Given the description of an element on the screen output the (x, y) to click on. 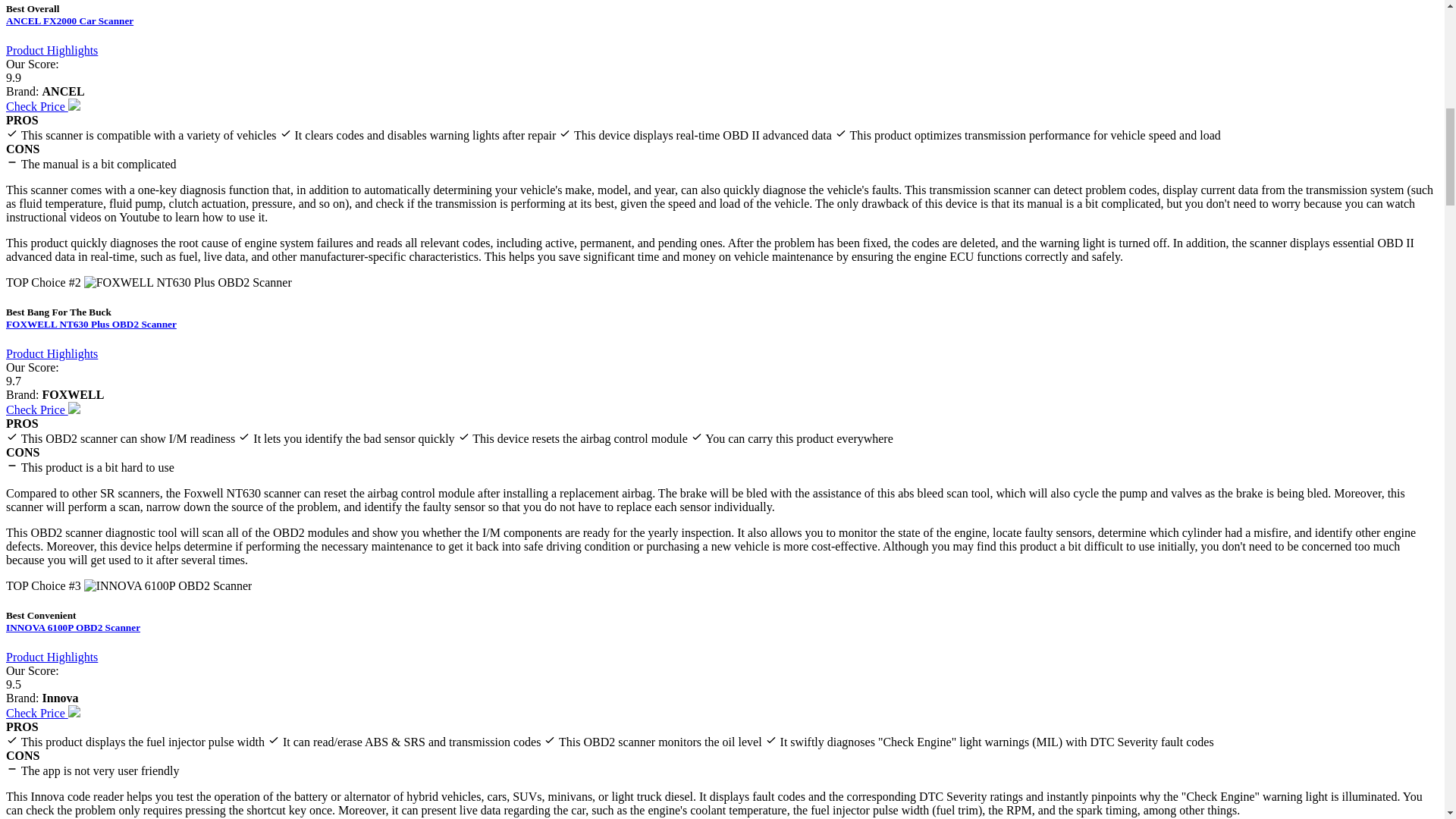
Product Highlights (51, 353)
FOXWELL NT630 Plus OBD2 Scanner (90, 324)
Check Price (42, 409)
Check Price (42, 106)
Check Price (42, 712)
Product Highlights (51, 656)
Product Highlights (51, 50)
ANCEL FX2000 Car Scanner (69, 20)
INNOVA 6100P OBD2 Scanner (72, 627)
